Given the description of an element on the screen output the (x, y) to click on. 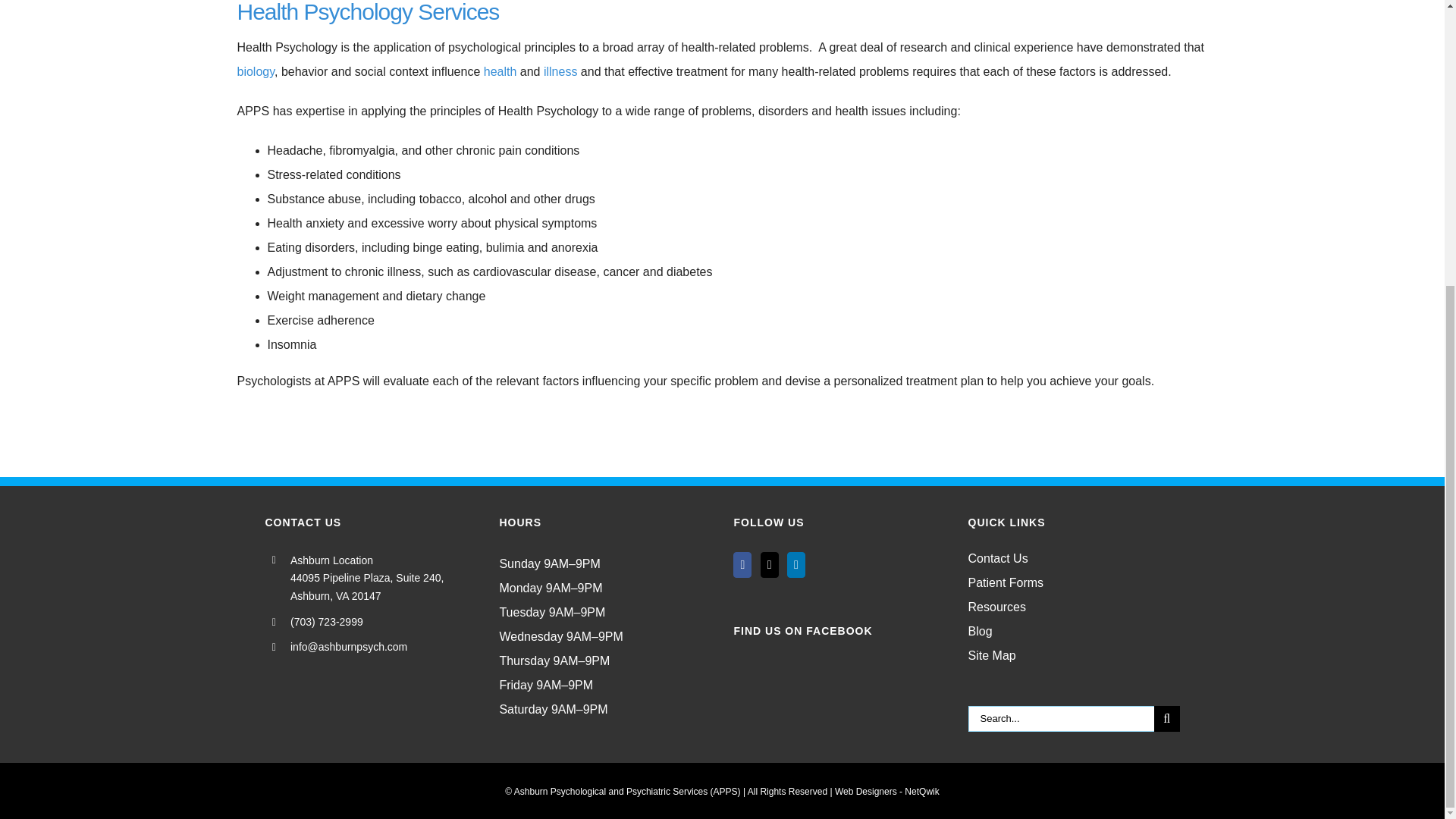
Health (499, 71)
Illness (559, 71)
Biology (255, 71)
Web Designers (886, 791)
